Given the description of an element on the screen output the (x, y) to click on. 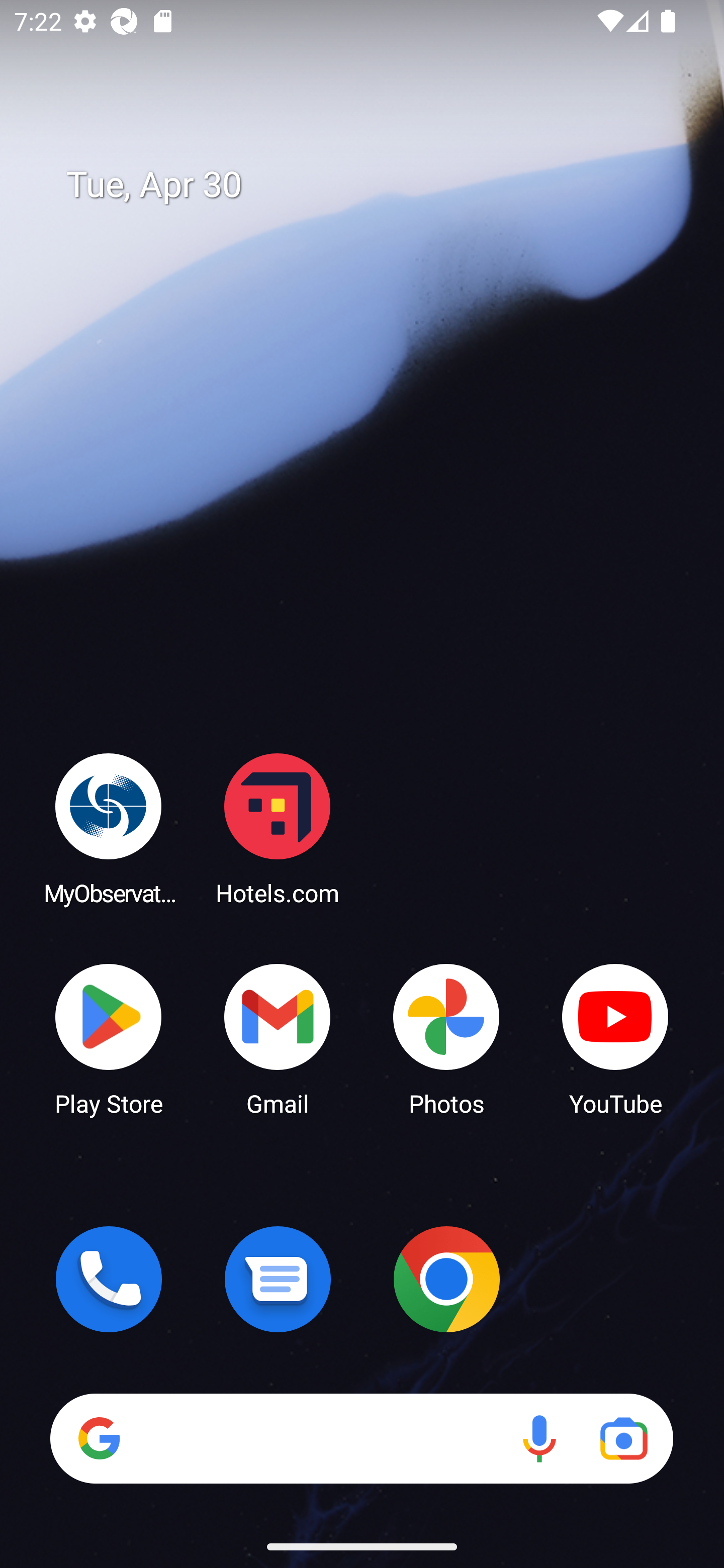
Tue, Apr 30 (375, 184)
MyObservatory (108, 828)
Hotels.com (277, 828)
Play Store (108, 1038)
Gmail (277, 1038)
Photos (445, 1038)
YouTube (615, 1038)
Phone (108, 1279)
Messages (277, 1279)
Chrome (446, 1279)
Voice search (539, 1438)
Google Lens (623, 1438)
